Given the description of an element on the screen output the (x, y) to click on. 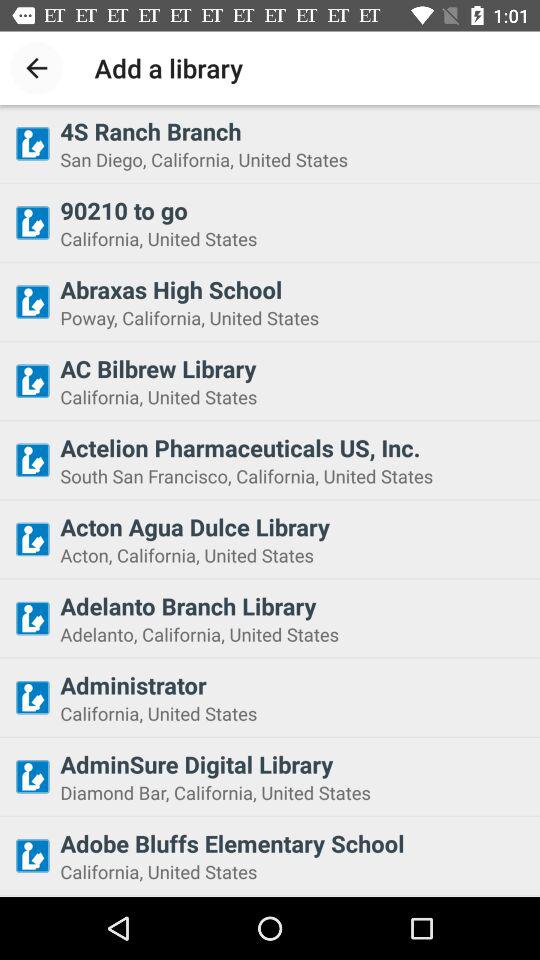
turn off actelion pharmaceuticals us (294, 447)
